Given the description of an element on the screen output the (x, y) to click on. 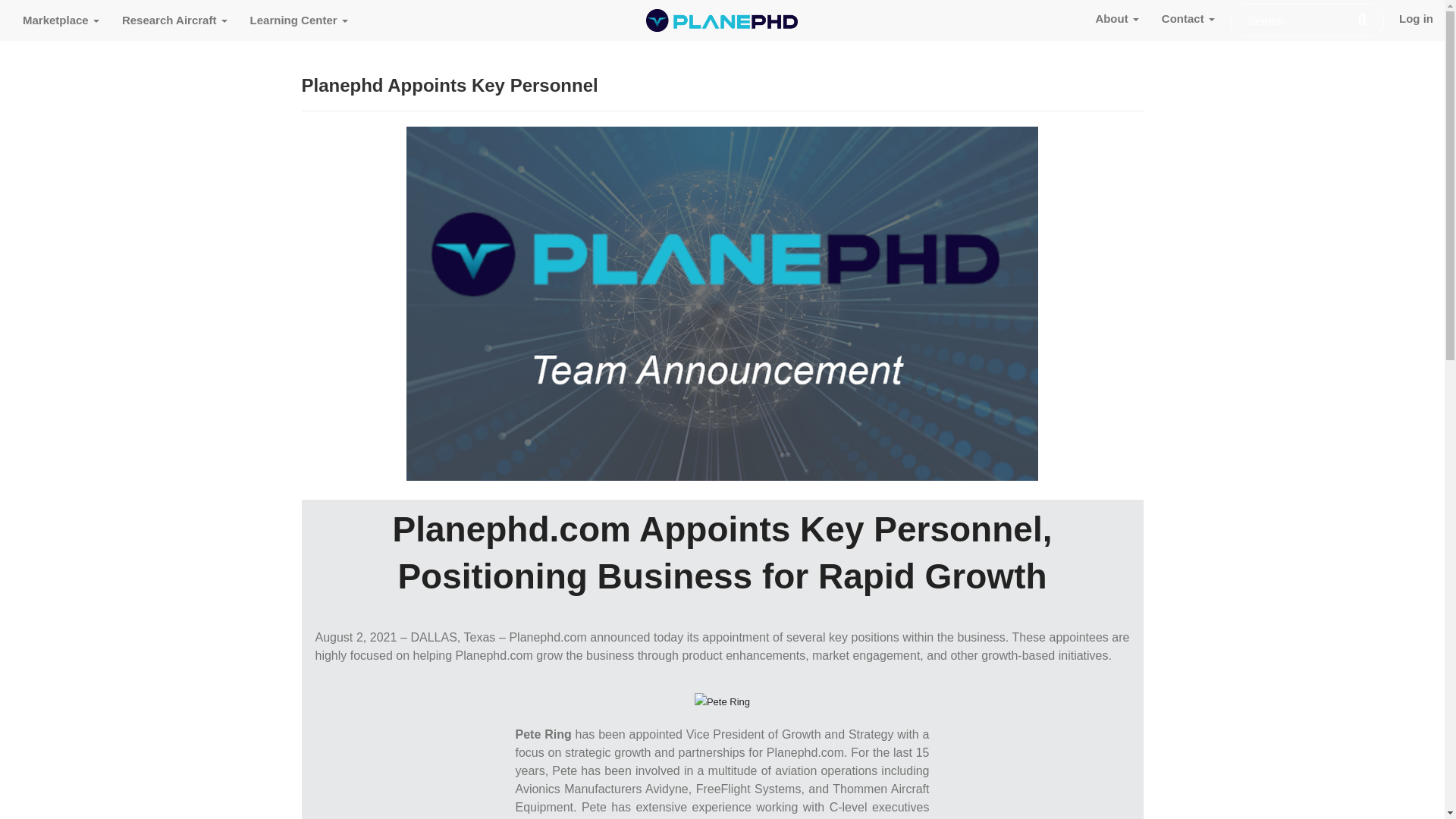
Research Aircraft (174, 20)
Contact (1187, 18)
Marketplace (60, 20)
About (1116, 18)
Learning Center (298, 20)
